Given the description of an element on the screen output the (x, y) to click on. 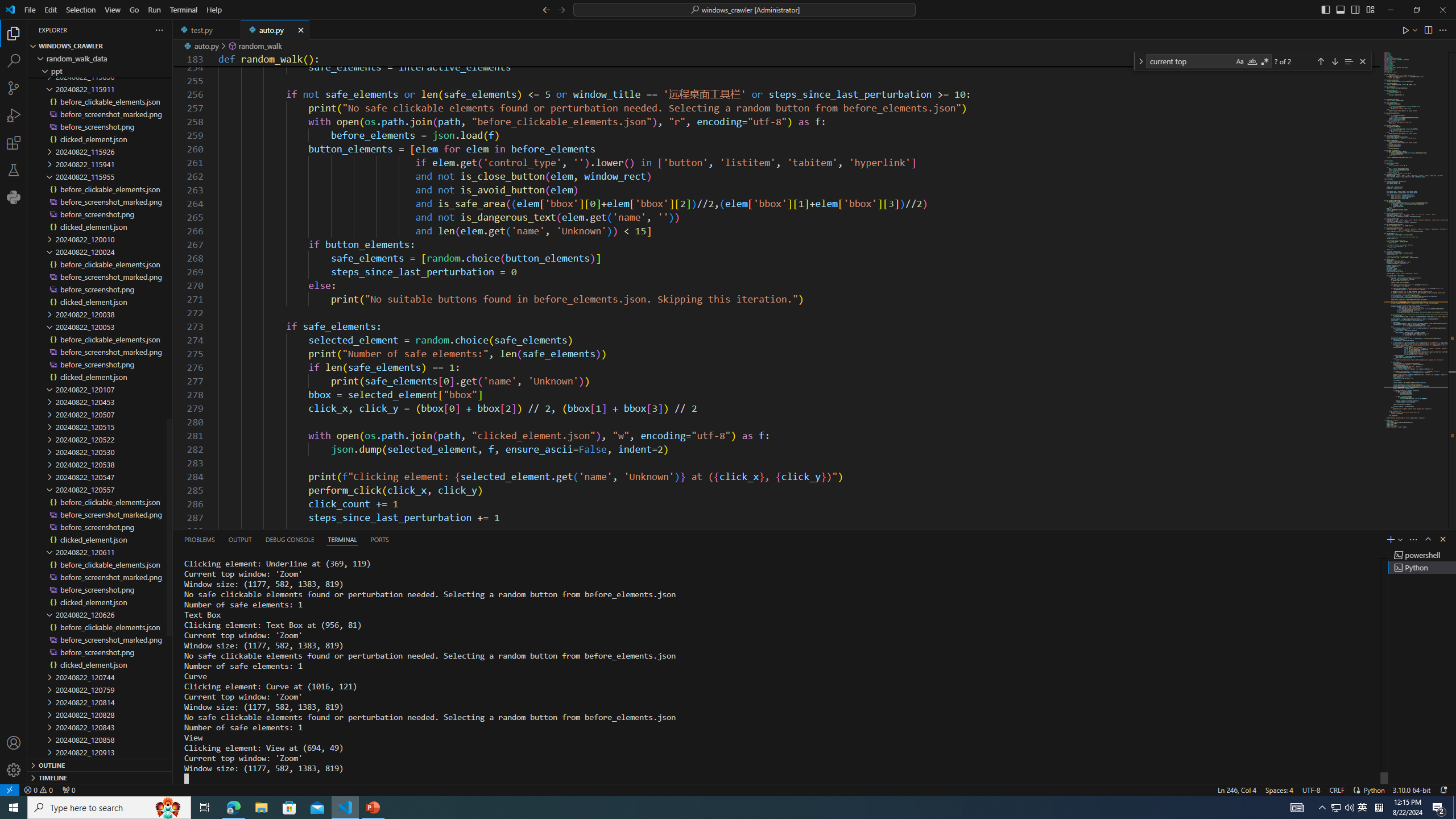
Run and Debug (Ctrl+Shift+D) (13, 115)
Selection (80, 9)
Run (153, 9)
Manage (13, 769)
Find in Selection (Alt+L) (1348, 60)
Search (Ctrl+Shift+F) (13, 60)
Problems (Ctrl+Shift+M) (199, 539)
Launch Profile... (1400, 539)
Split Editor Right (Ctrl+\) [Alt] Split Editor Down (1428, 29)
Accounts (13, 742)
Explorer Section: windows_crawler (99, 46)
Run Python File (1405, 29)
Testing (13, 169)
